Given the description of an element on the screen output the (x, y) to click on. 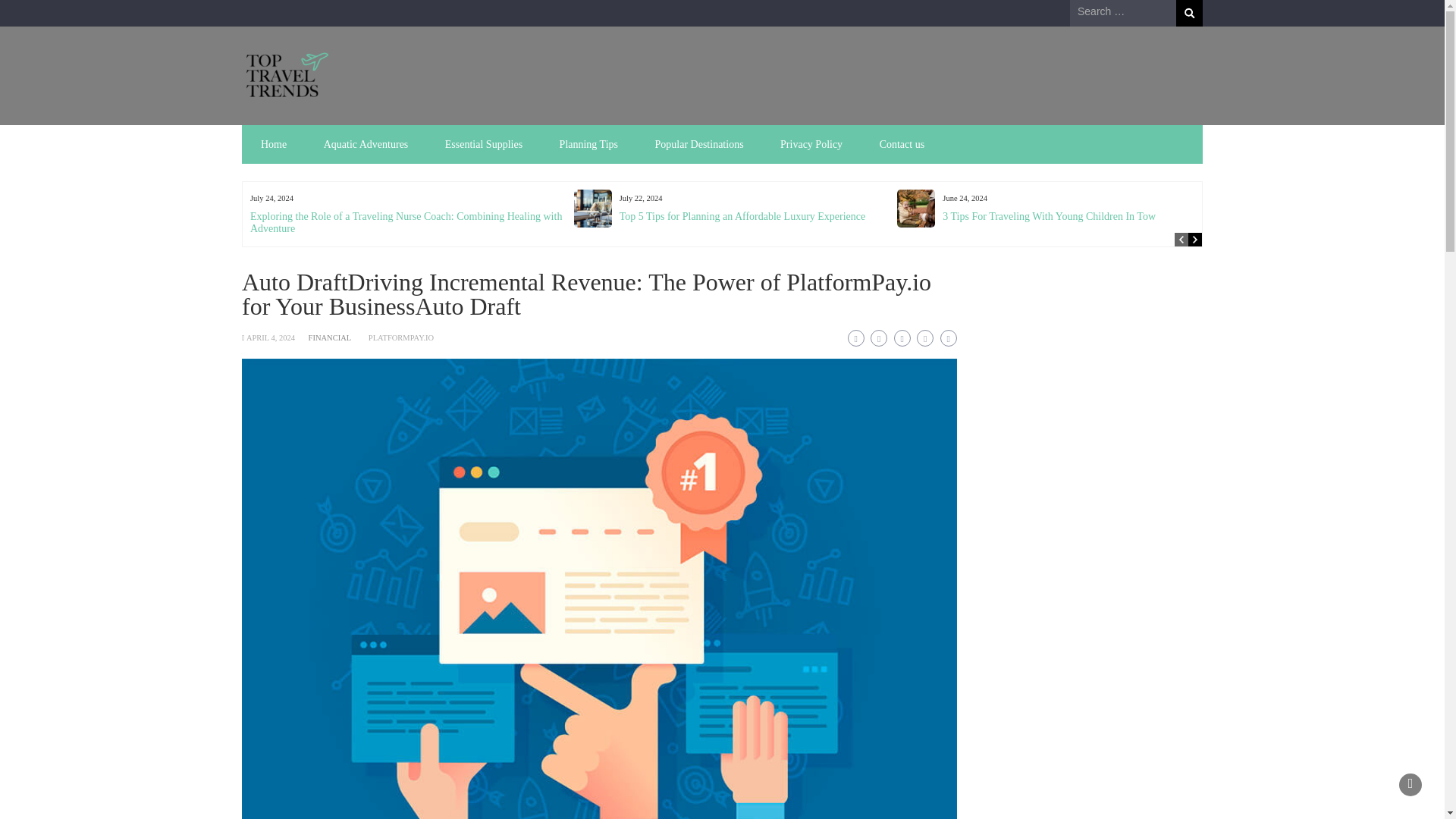
Privacy Policy (811, 144)
PLATFORMPAY.IO (400, 337)
Contact us (902, 144)
Search (1189, 13)
Search for: (1123, 11)
Search (1189, 13)
Popular Destinations (699, 144)
Home (273, 144)
3 Tips For Traveling With Young Children In Tow (1049, 215)
Top 5 Tips for Planning an Affordable Luxury Experience (743, 215)
FINANCIAL (330, 337)
Essential Supplies (483, 144)
Planning Tips (588, 144)
Aquatic Adventures (365, 144)
